Given the description of an element on the screen output the (x, y) to click on. 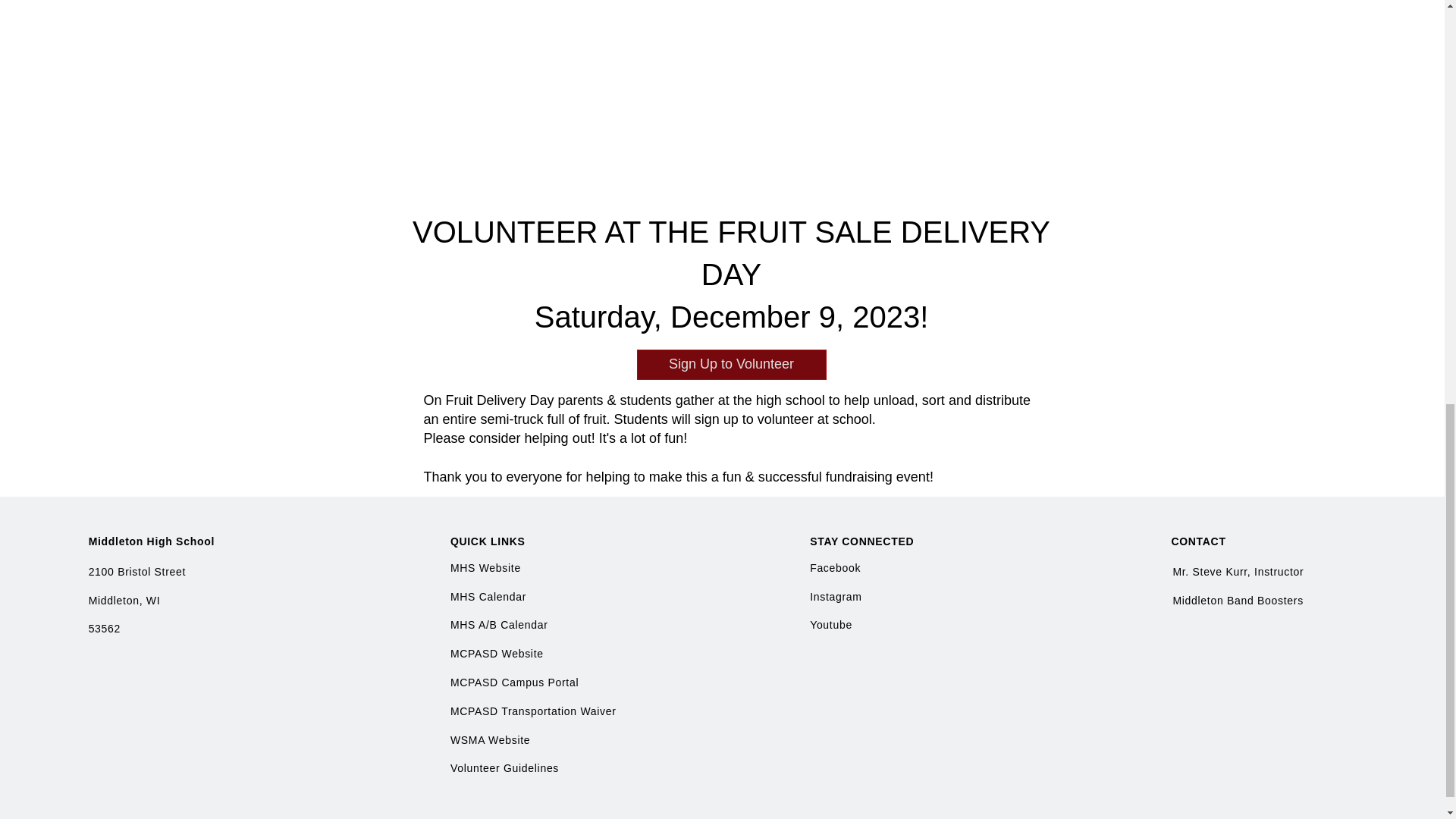
Volunteer Guidelines (504, 767)
MCPASD Campus Portal (513, 682)
MHS Calendar (487, 596)
MHS Website  (486, 567)
Instagram (835, 596)
MCPASD Website (496, 653)
Youtube (830, 624)
MCPASD Transportation Waiver (532, 711)
Facebook (834, 567)
Embedded Content (746, 49)
Middleton Band Boosters (1237, 600)
Sign Up to Volunteer (732, 364)
Mr. Steve Kurr, Instructor (1237, 571)
WSMA Website (489, 739)
